Given the description of an element on the screen output the (x, y) to click on. 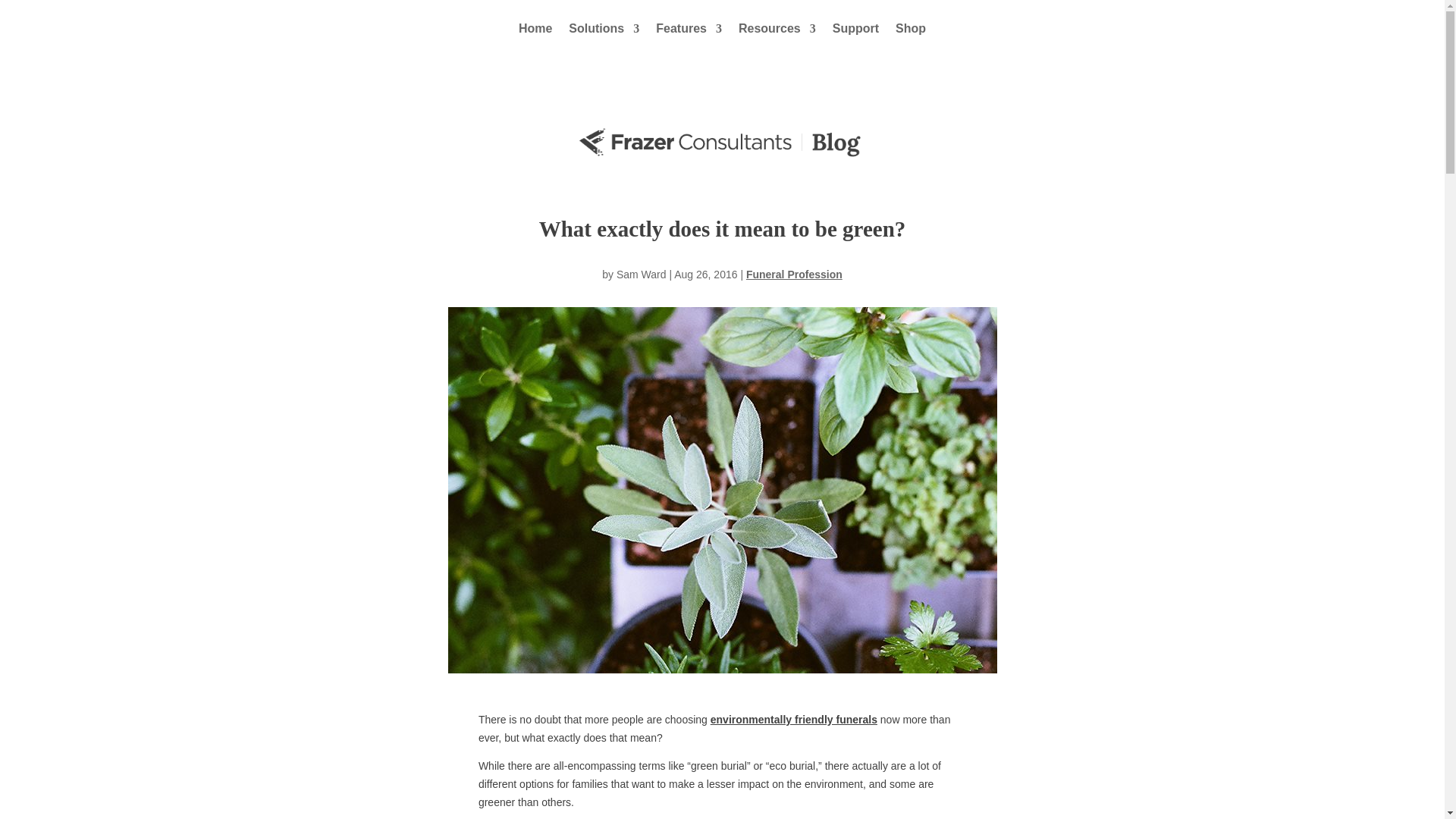
Solutions (604, 28)
Resources (776, 28)
Posts by Sam Ward (640, 274)
Features (689, 28)
